Given the description of an element on the screen output the (x, y) to click on. 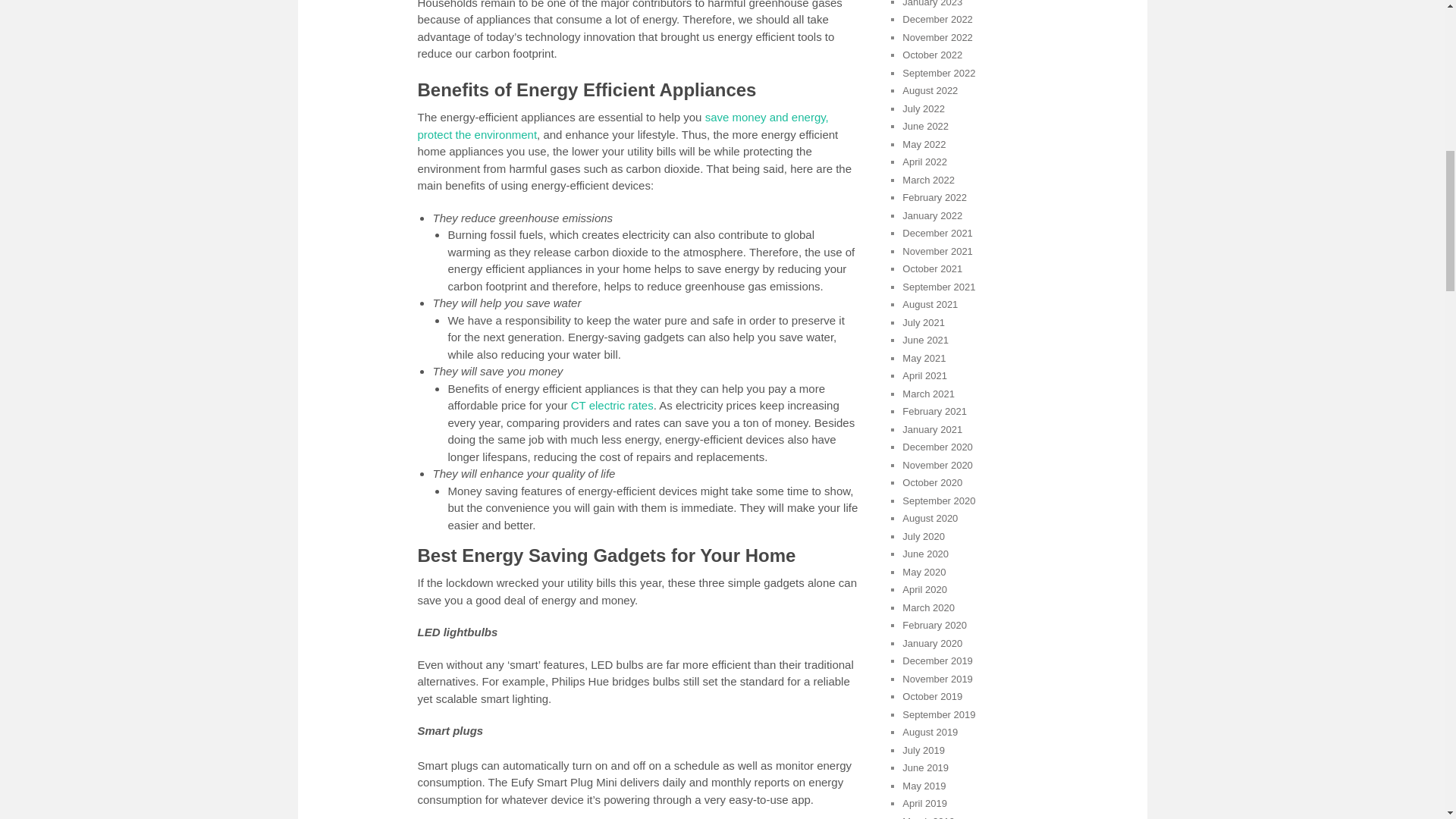
CT electric rates (611, 404)
save money and energy, protect the environment (622, 125)
